Given the description of an element on the screen output the (x, y) to click on. 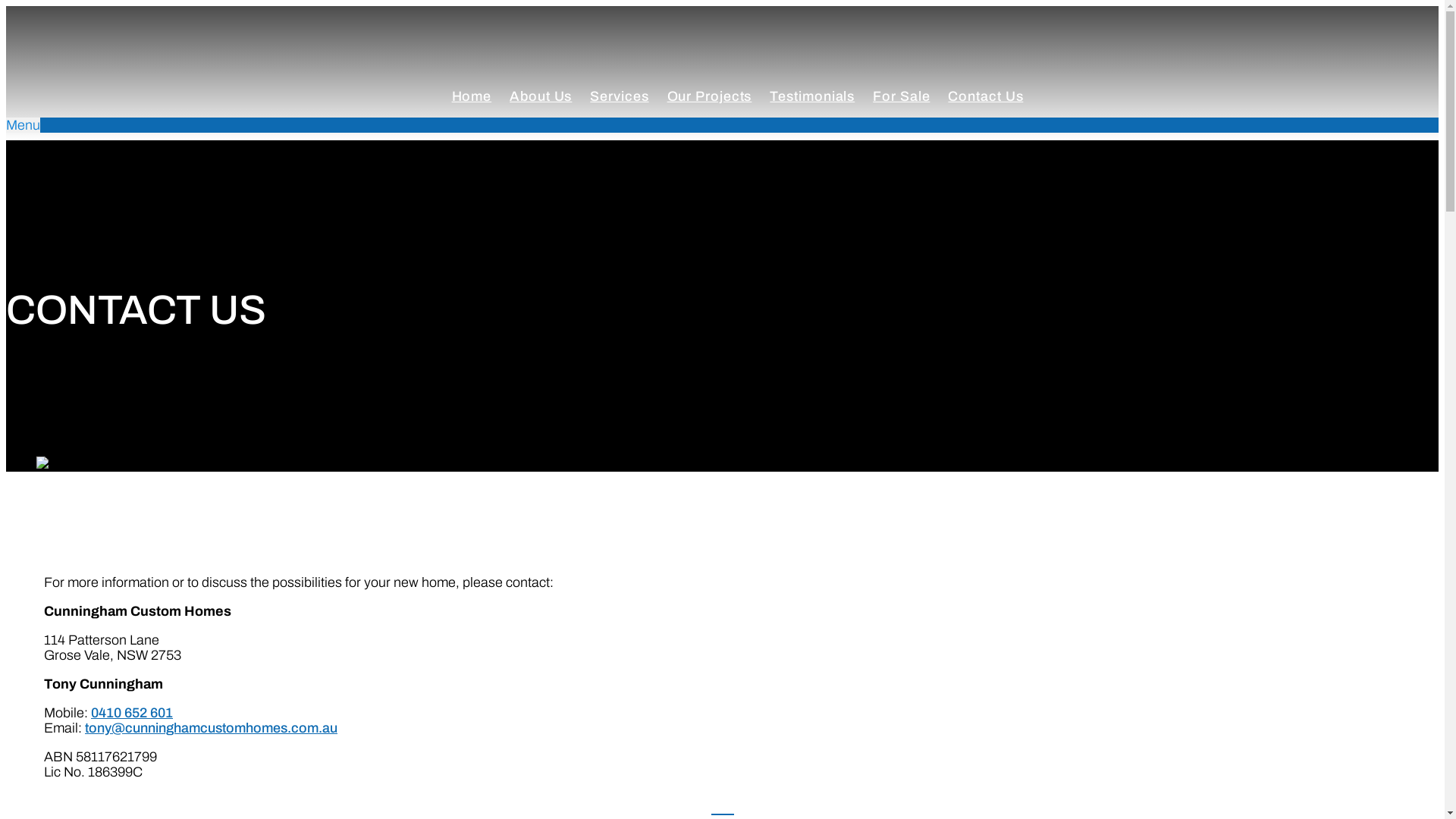
Testimonials Element type: text (811, 95)
0410 652 601 Element type: text (131, 712)
Services Element type: text (618, 95)
Contact Us Element type: text (985, 95)
tony@cunninghamcustomhomes.com.au Element type: text (210, 727)
Our Projects Element type: text (709, 95)
About Us Element type: text (540, 95)
Home Element type: text (471, 95)
For Sale Element type: text (900, 95)
